Given the description of an element on the screen output the (x, y) to click on. 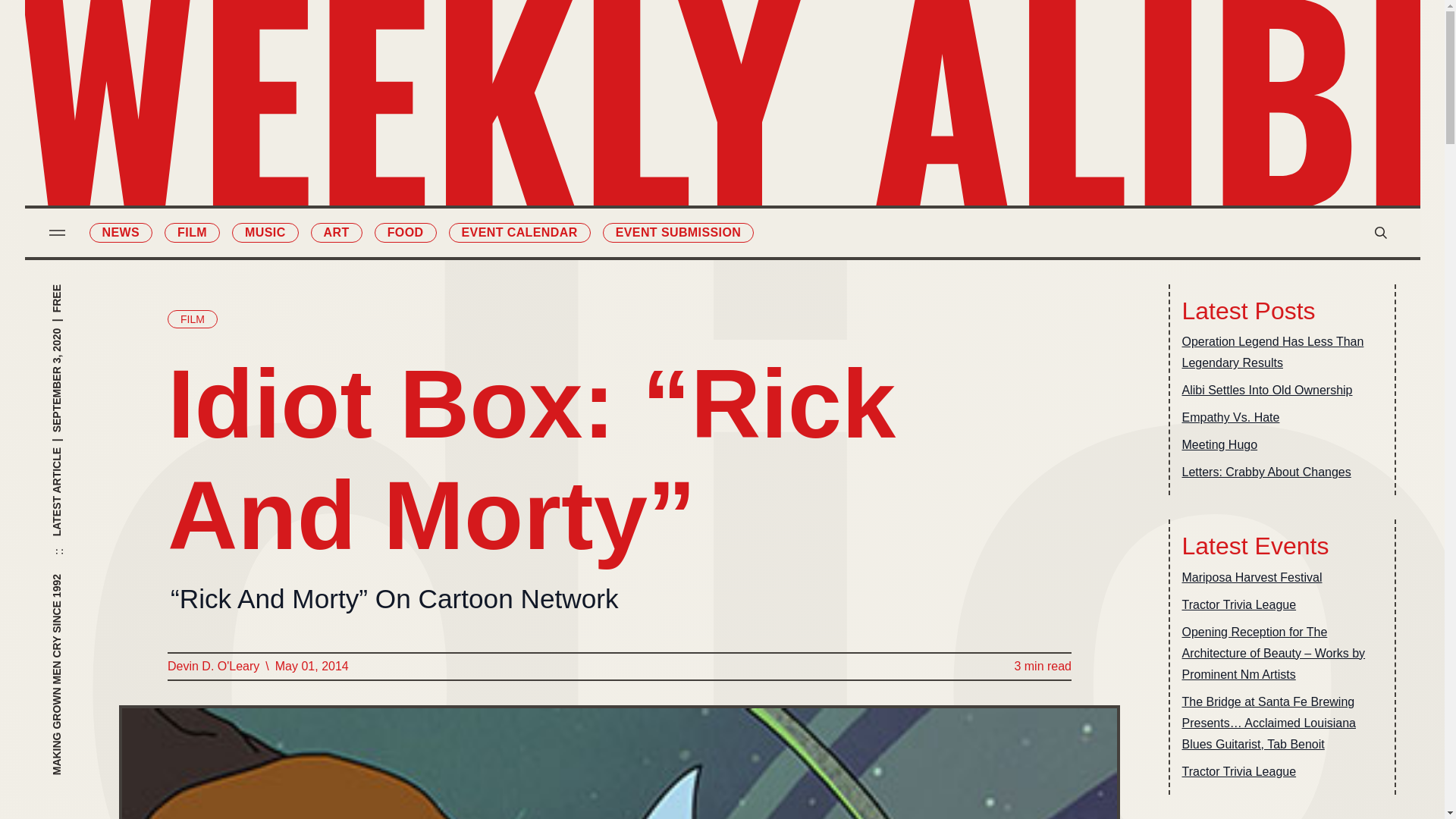
FILM (191, 319)
ART (336, 232)
FOOD (405, 232)
MUSIC (264, 232)
Devin D. O'Leary (213, 666)
EVENT CALENDAR (519, 232)
EVENT SUBMISSION (678, 232)
FILM (191, 232)
NEWS (120, 232)
